Given the description of an element on the screen output the (x, y) to click on. 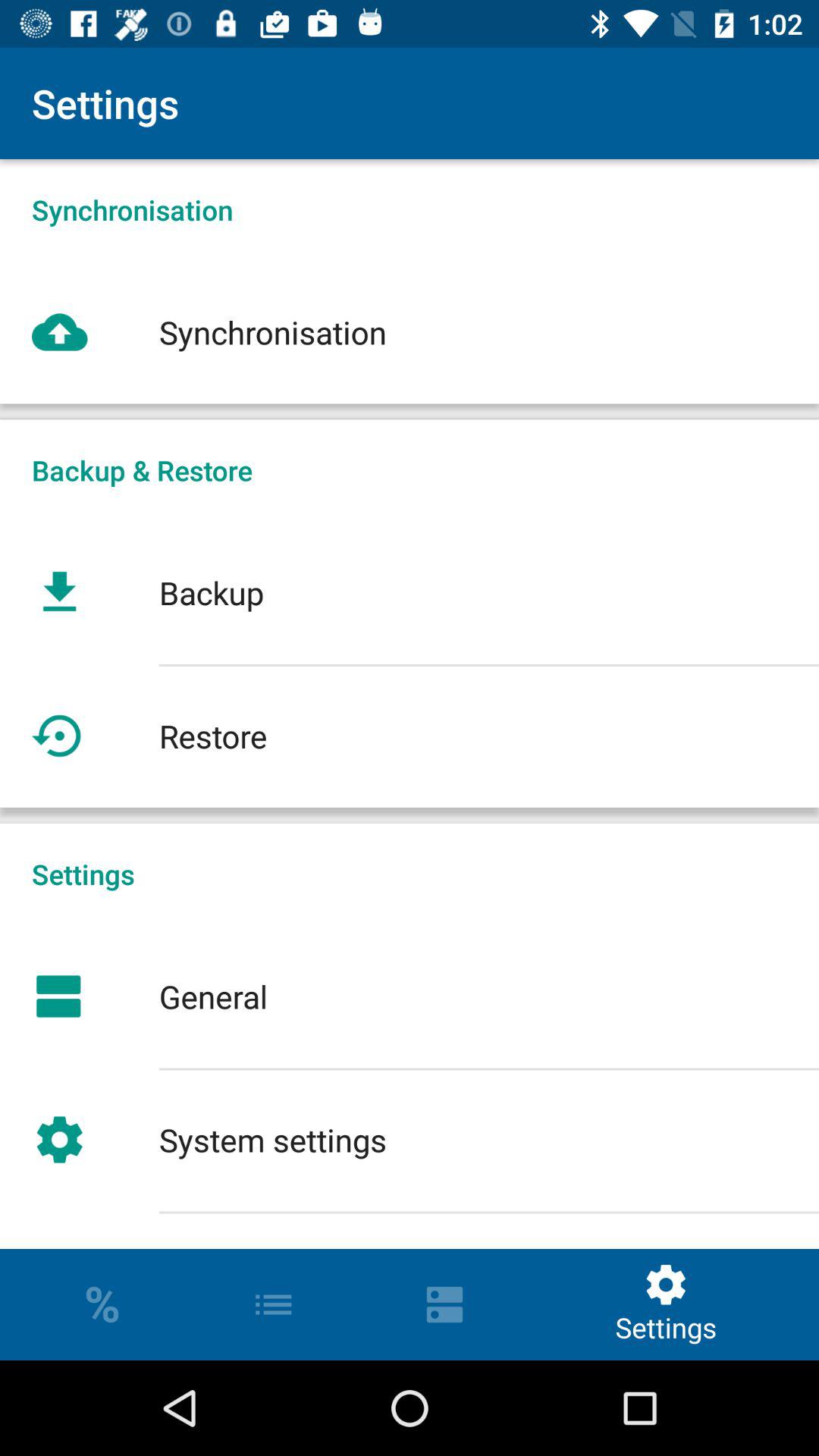
select the icon which is left side of the general (59, 996)
click on settings (665, 1304)
click on the first button in the blue background which is at the bottom of the page (102, 1305)
